Given the description of an element on the screen output the (x, y) to click on. 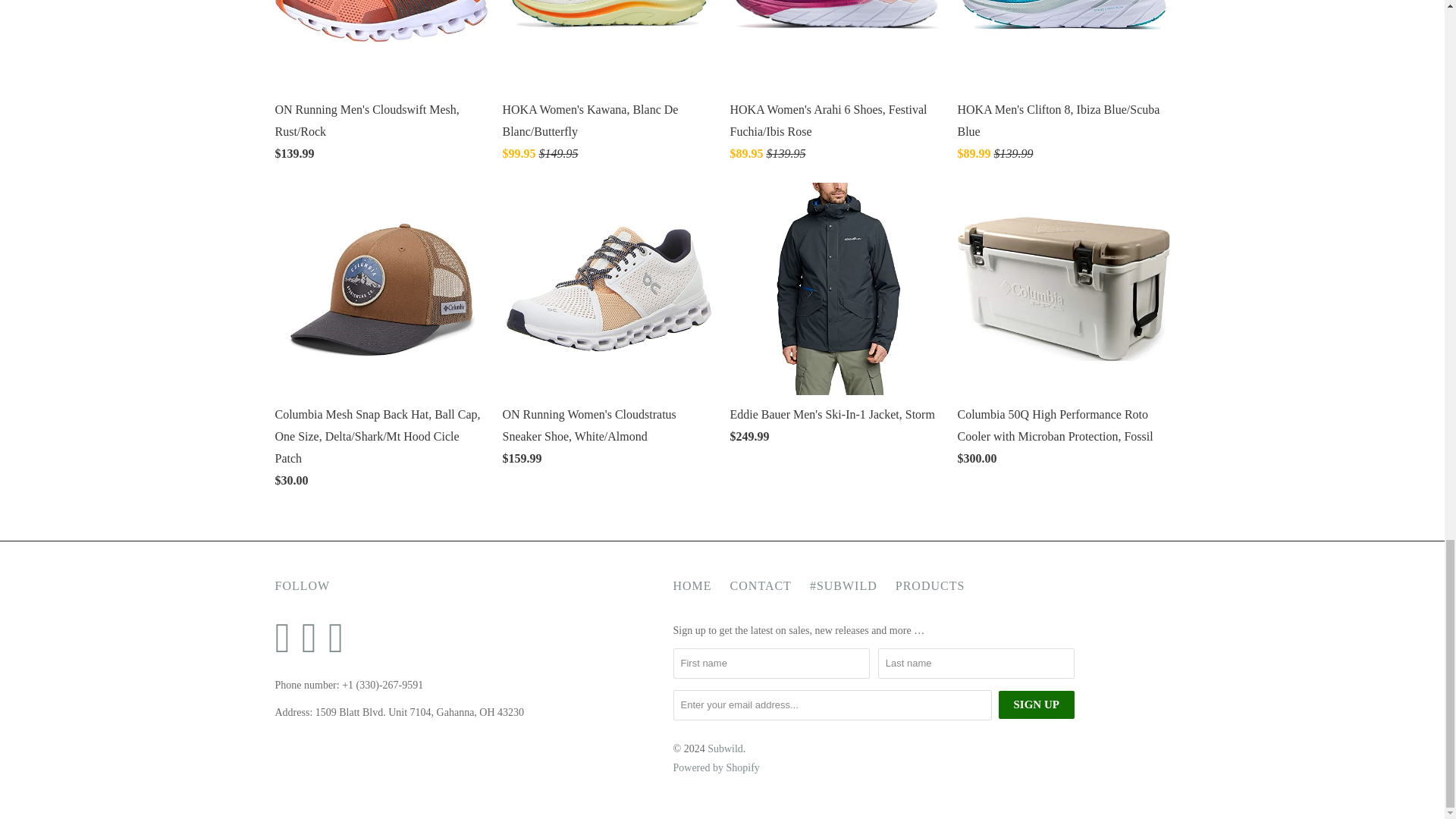
Sign Up (1035, 705)
